Given the description of an element on the screen output the (x, y) to click on. 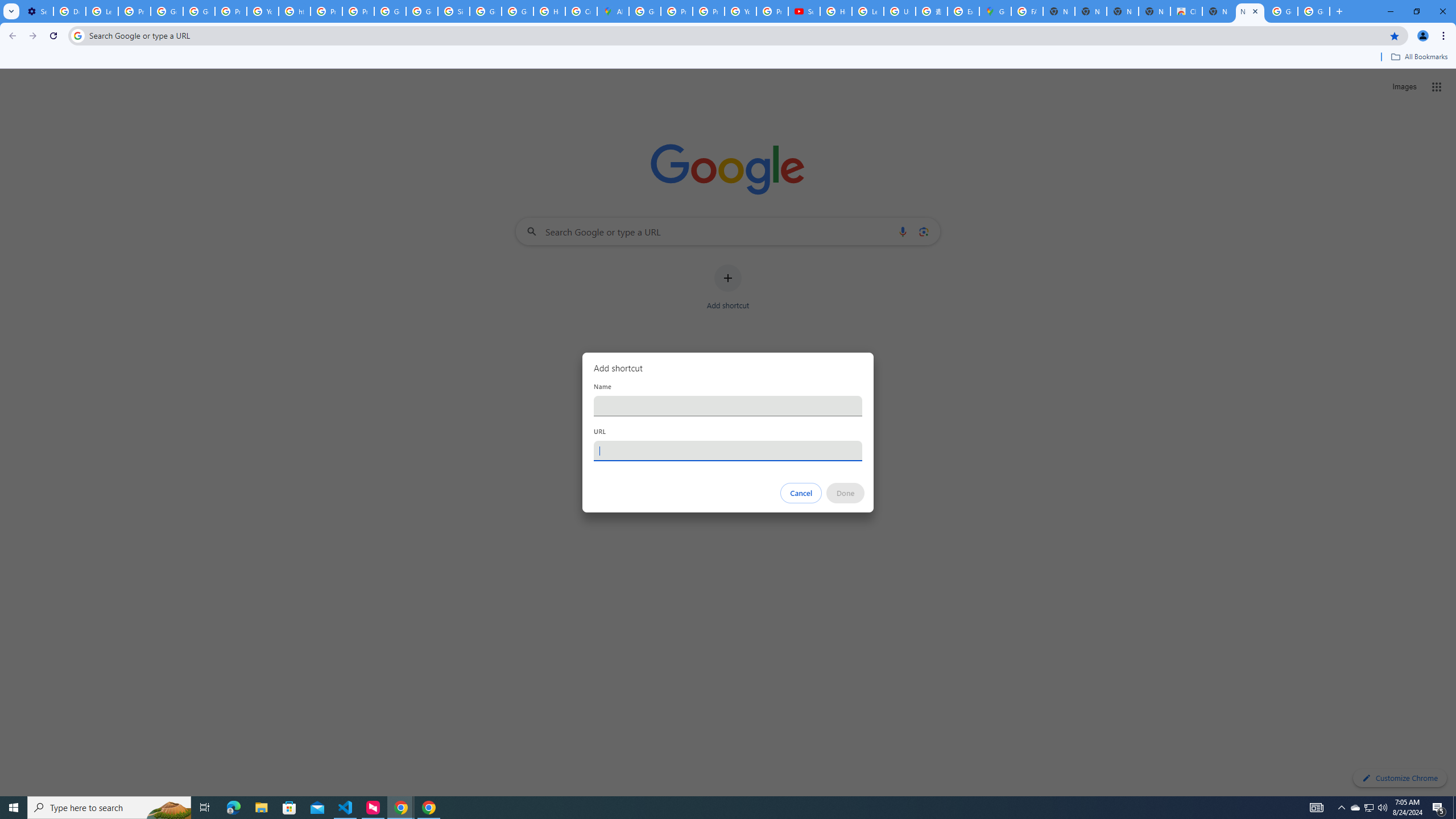
YouTube (262, 11)
Explore new street-level details - Google Maps Help (963, 11)
URL (727, 450)
Google Images (1313, 11)
Privacy Help Center - Policies Help (676, 11)
How Chrome protects your passwords - Google Chrome Help (836, 11)
Settings - Performance (37, 11)
